Given the description of an element on the screen output the (x, y) to click on. 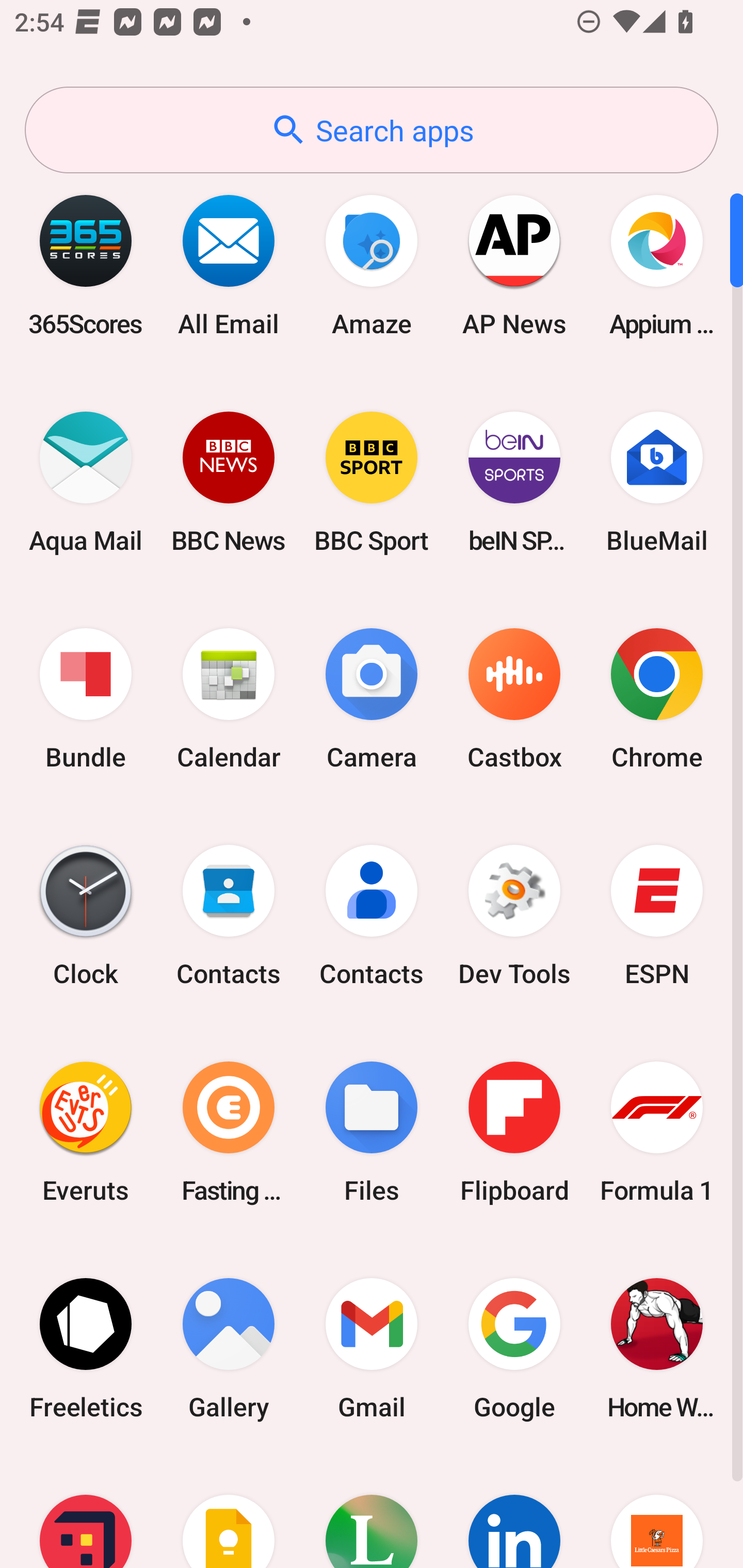
  Search apps (371, 130)
365Scores (85, 264)
All Email (228, 264)
Amaze (371, 264)
AP News (514, 264)
Appium Settings (656, 264)
Aqua Mail (85, 482)
BBC News (228, 482)
BBC Sport (371, 482)
beIN SPORTS (514, 482)
BlueMail (656, 482)
Bundle (85, 699)
Calendar (228, 699)
Camera (371, 699)
Castbox (514, 699)
Chrome (656, 699)
Clock (85, 915)
Contacts (228, 915)
Contacts (371, 915)
Dev Tools (514, 915)
ESPN (656, 915)
Everuts (85, 1131)
Fasting Coach (228, 1131)
Files (371, 1131)
Flipboard (514, 1131)
Formula 1 (656, 1131)
Freeletics (85, 1348)
Gallery (228, 1348)
Gmail (371, 1348)
Google (514, 1348)
Home Workout (656, 1348)
Hotels.com (85, 1512)
Keep Notes (228, 1512)
Lifesum (371, 1512)
LinkedIn (514, 1512)
Little Caesars Pizza (656, 1512)
